Given the description of an element on the screen output the (x, y) to click on. 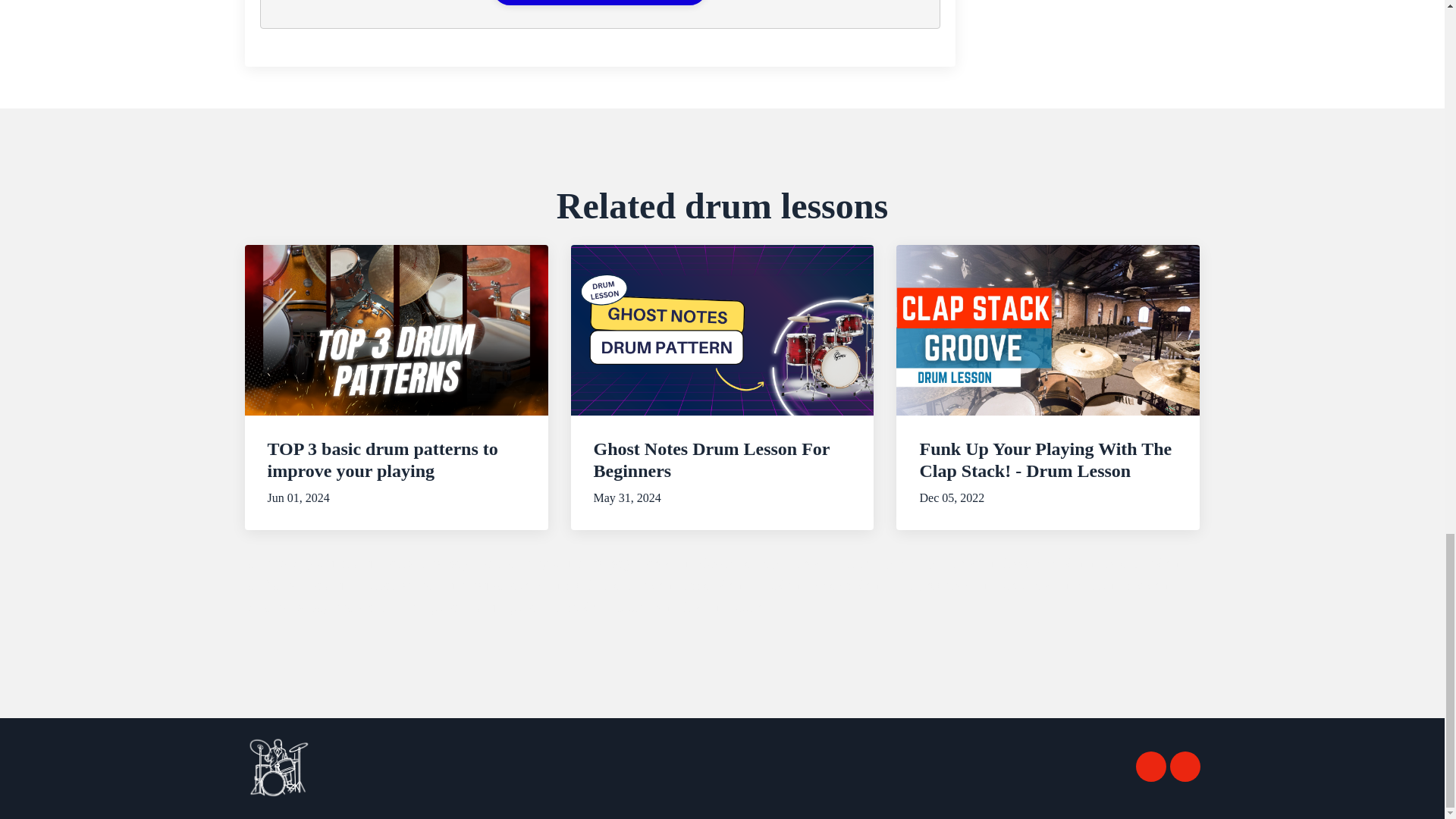
CLICK HERE FOR MORE INFO (599, 2)
